Given the description of an element on the screen output the (x, y) to click on. 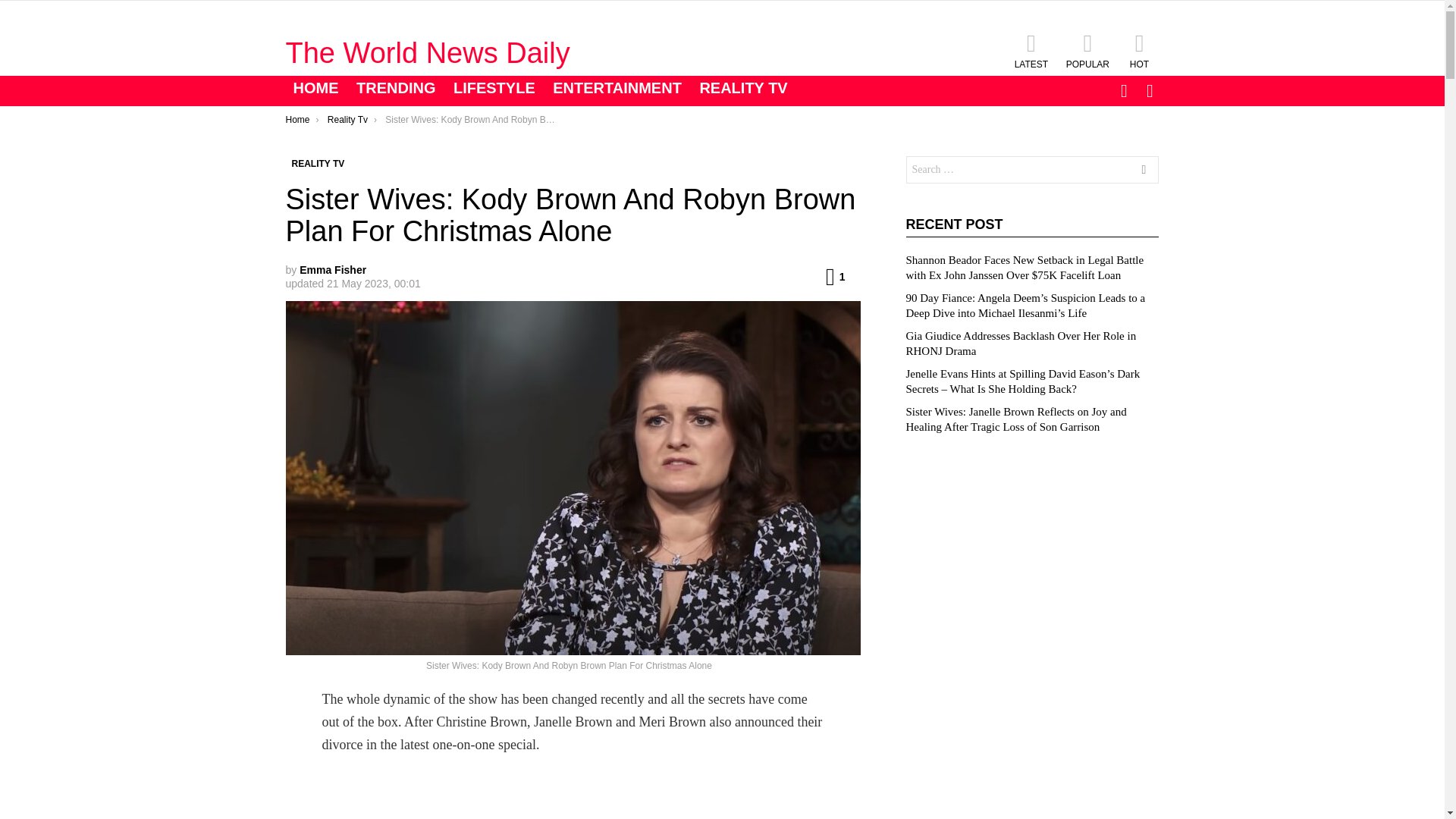
HOME (315, 87)
LIFESTYLE (494, 87)
HOT (1138, 50)
The World News Daily (427, 52)
POPULAR (1087, 50)
REALITY TV (317, 163)
ENTERTAINMENT (616, 87)
Emma Fisher (332, 269)
LATEST (1031, 50)
Reality Tv (347, 119)
